Given the description of an element on the screen output the (x, y) to click on. 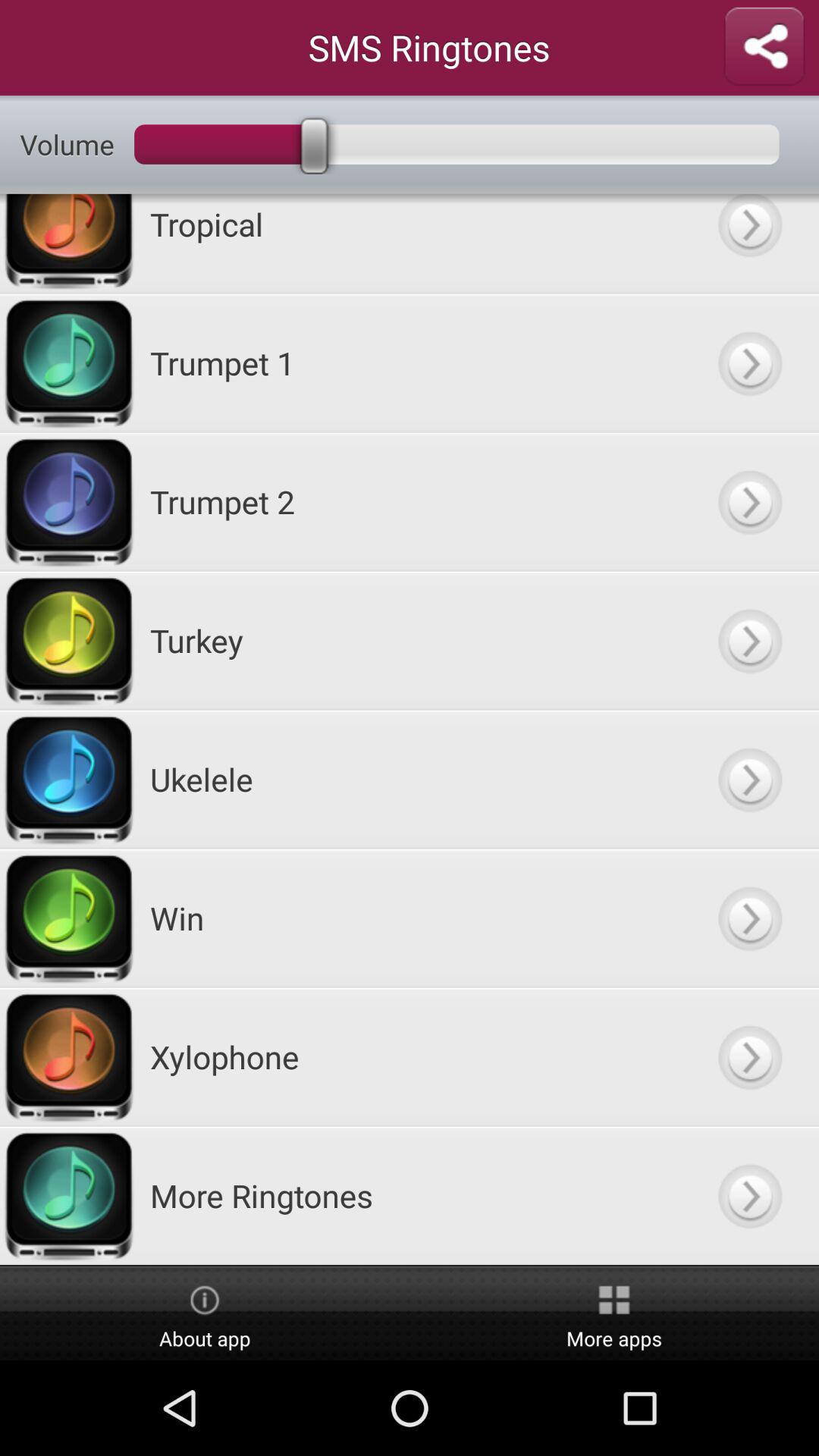
fair ward (749, 243)
